Given the description of an element on the screen output the (x, y) to click on. 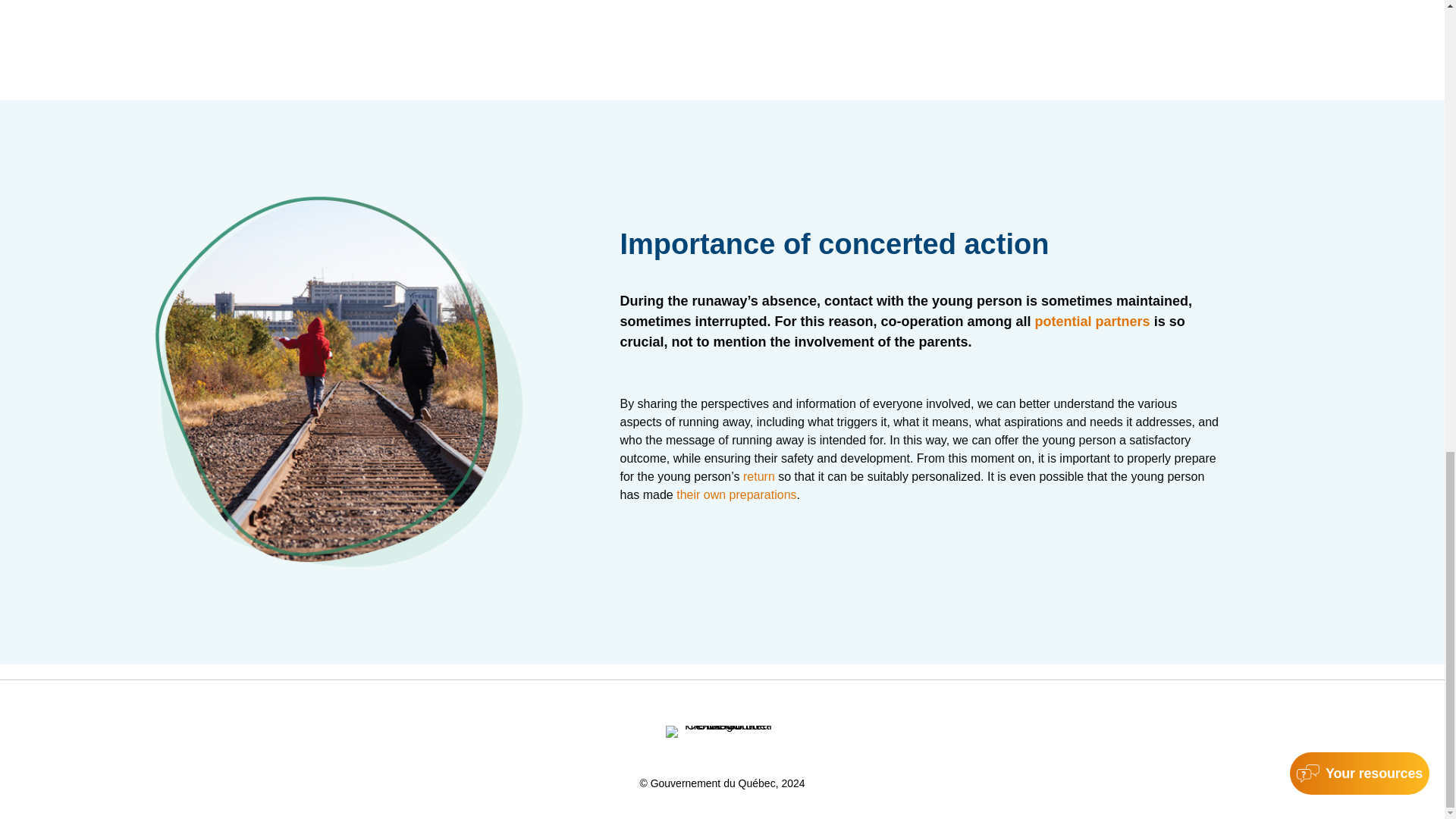
their own preparations (736, 494)
return (758, 476)
potential partners (1094, 321)
footer-logo (721, 731)
